Given the description of an element on the screen output the (x, y) to click on. 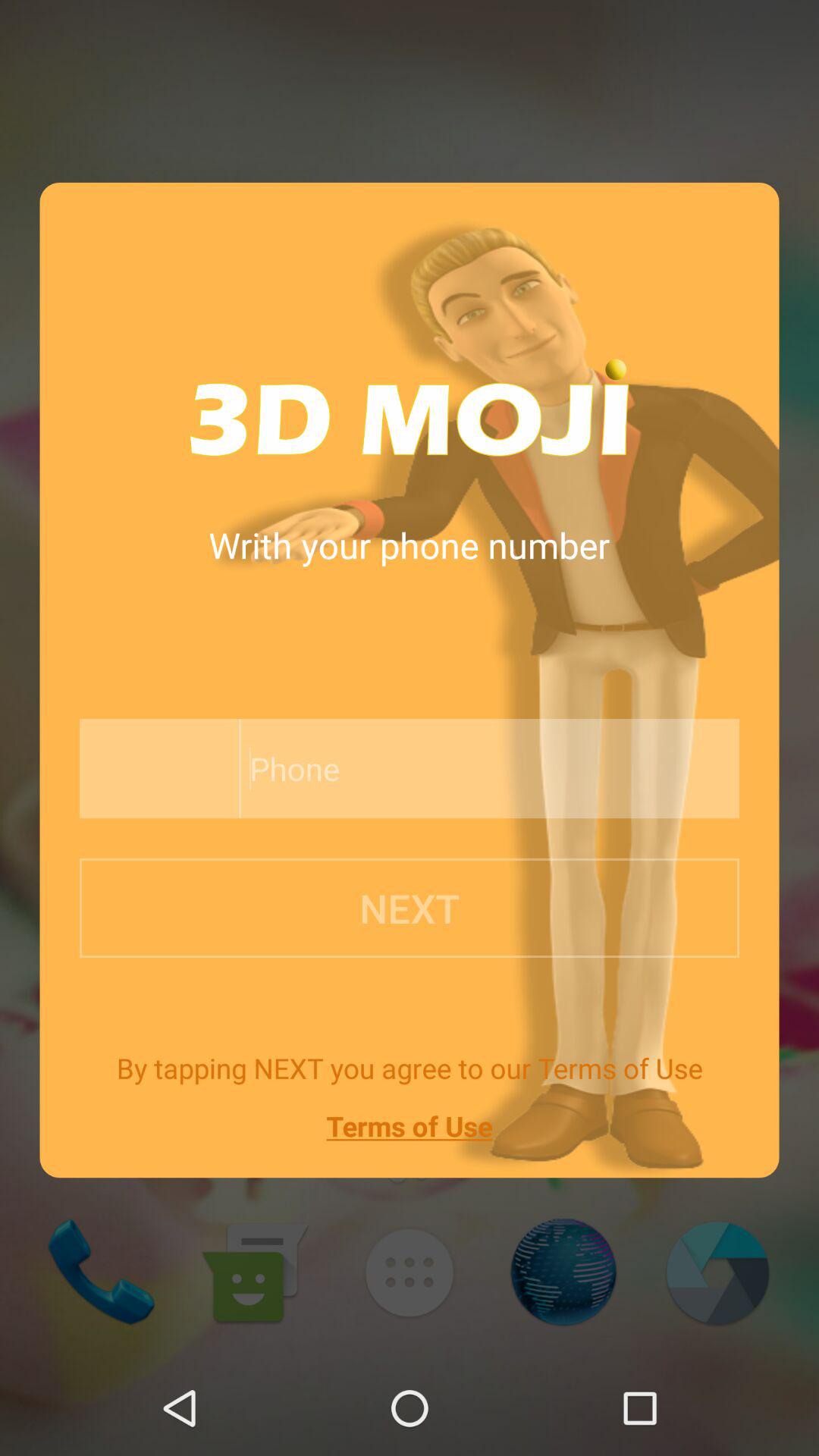
enter phone number (454, 768)
